Given the description of an element on the screen output the (x, y) to click on. 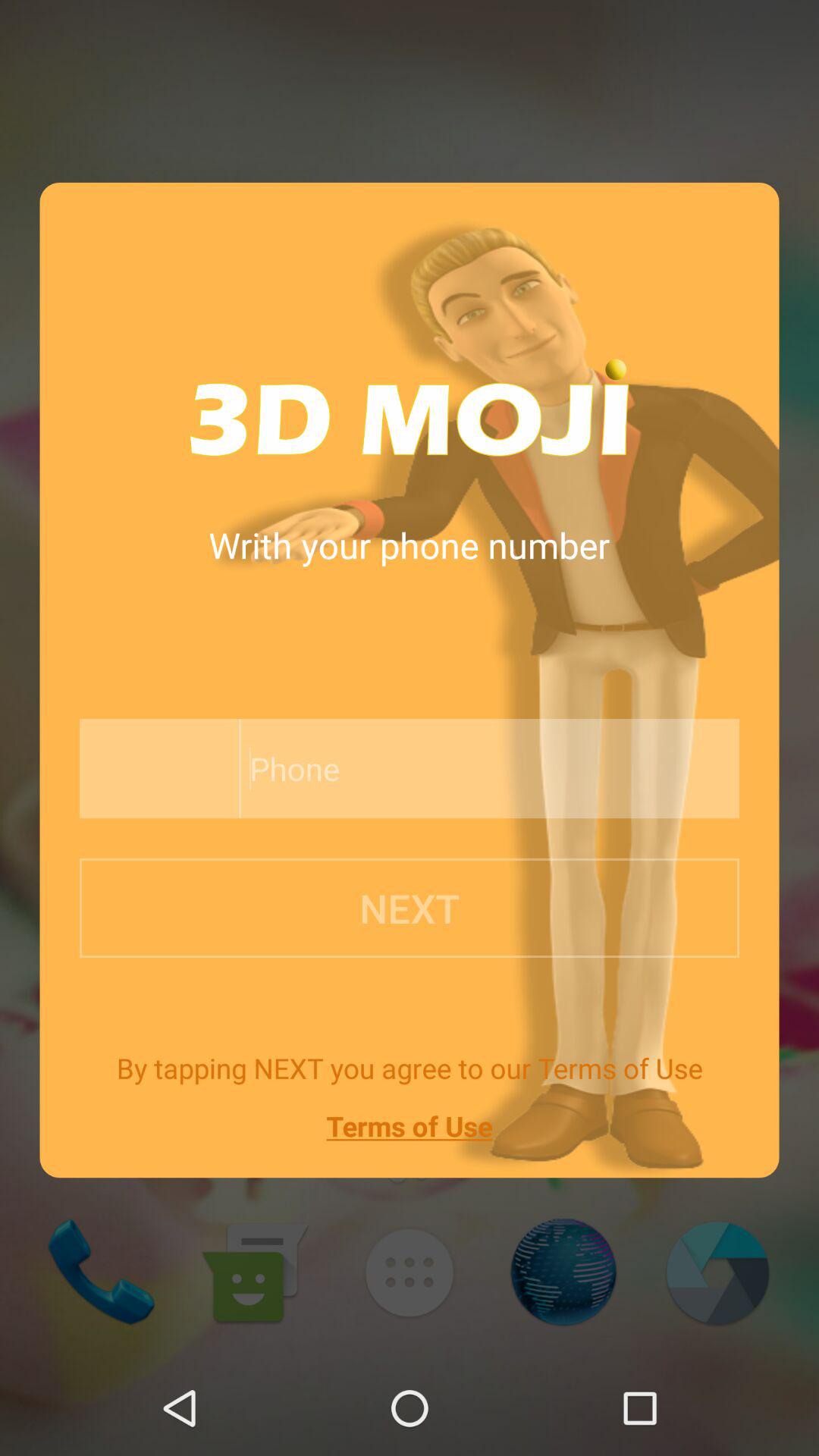
enter phone number (454, 768)
